Given the description of an element on the screen output the (x, y) to click on. 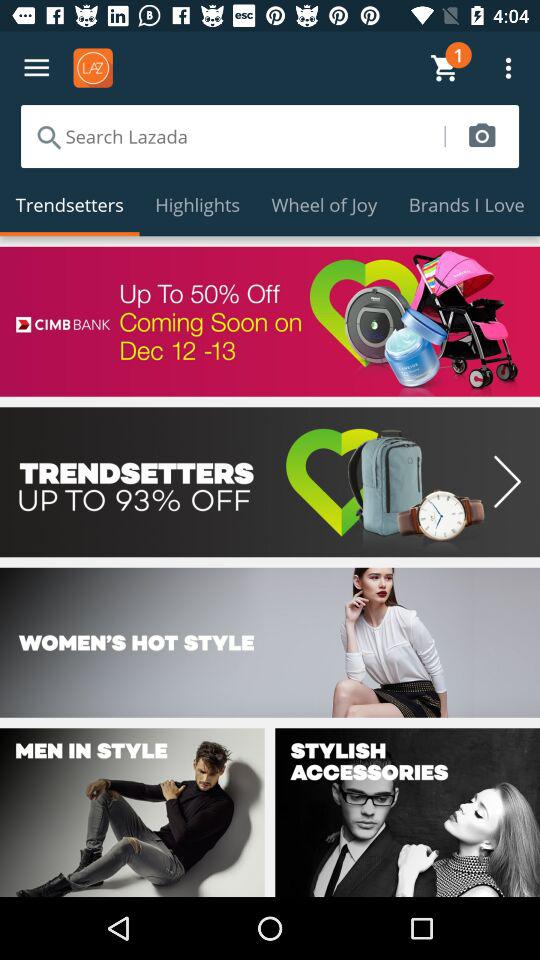
settings icon (36, 68)
